Given the description of an element on the screen output the (x, y) to click on. 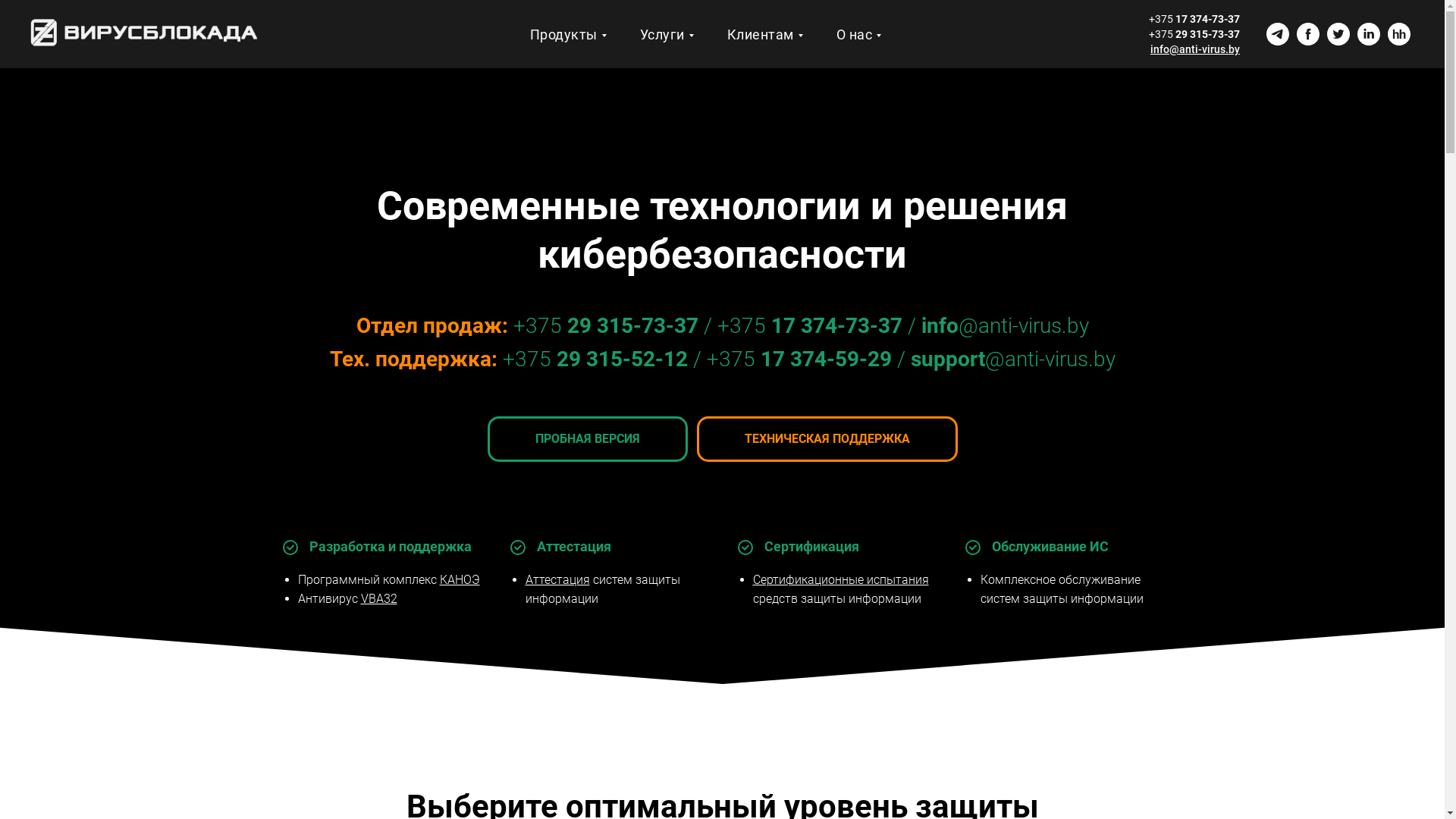
Facebook Element type: hover (1307, 33)
LinkedIN Element type: hover (1368, 33)
Twitter Element type: hover (1338, 33)
VBA32 Element type: text (378, 598)
hh.ru Element type: hover (1398, 33)
Telegram Element type: hover (1277, 33)
